Given the description of an element on the screen output the (x, y) to click on. 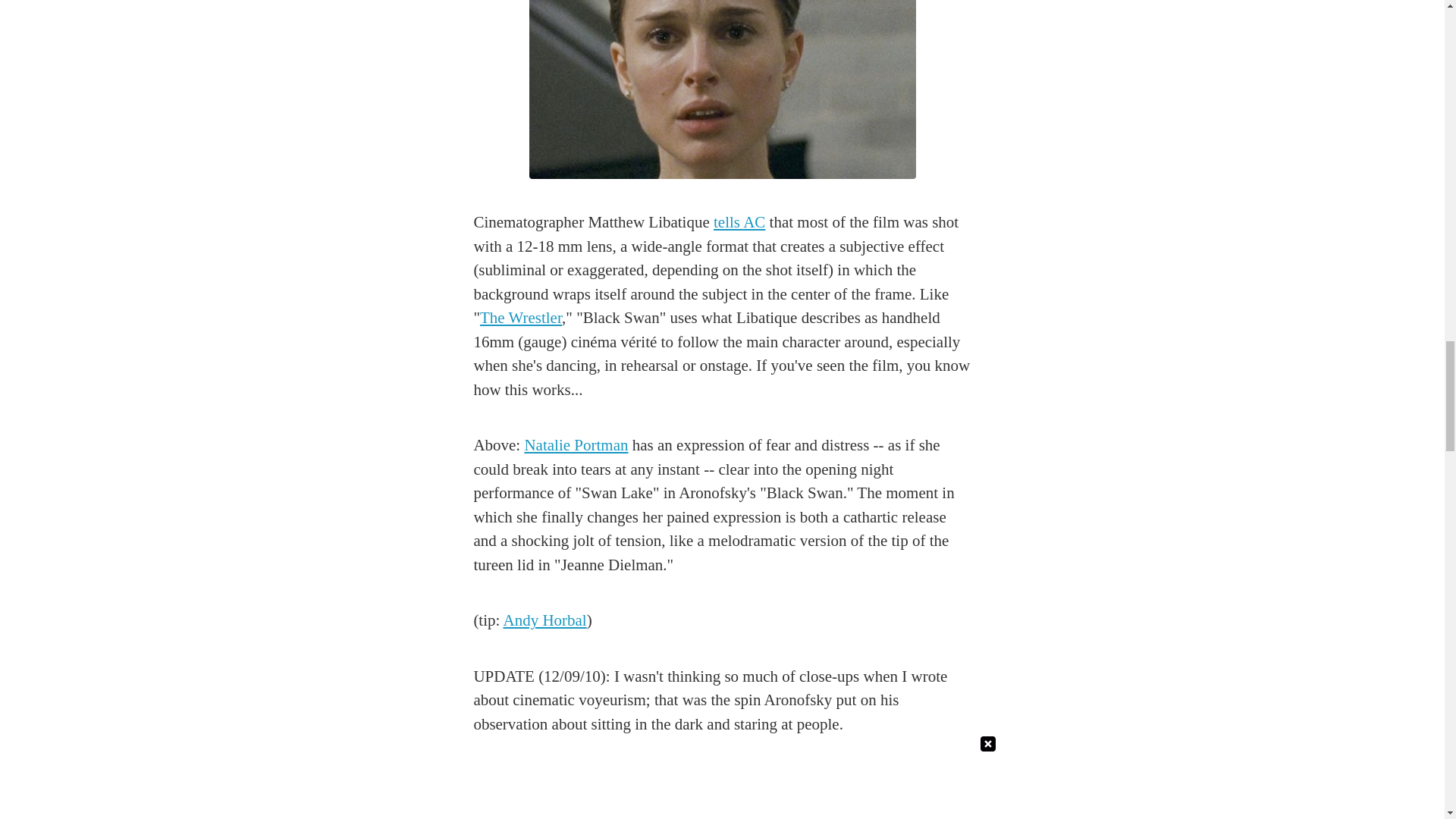
Andy Horbal (544, 619)
Natalie Portman (575, 444)
The Wrestler (521, 317)
tells AC (739, 221)
